Given the description of an element on the screen output the (x, y) to click on. 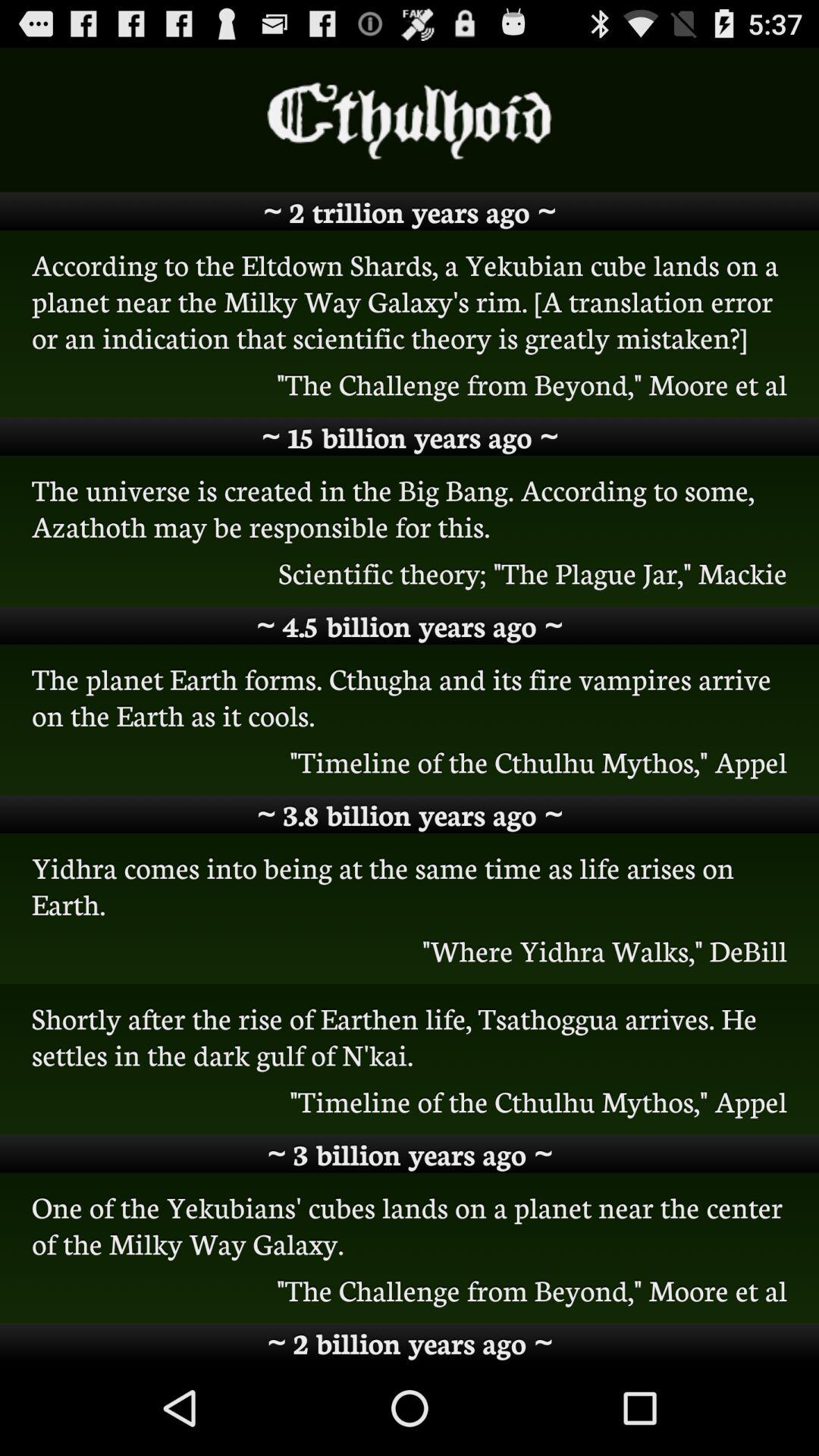
turn on item below the scientific theory the item (409, 625)
